Given the description of an element on the screen output the (x, y) to click on. 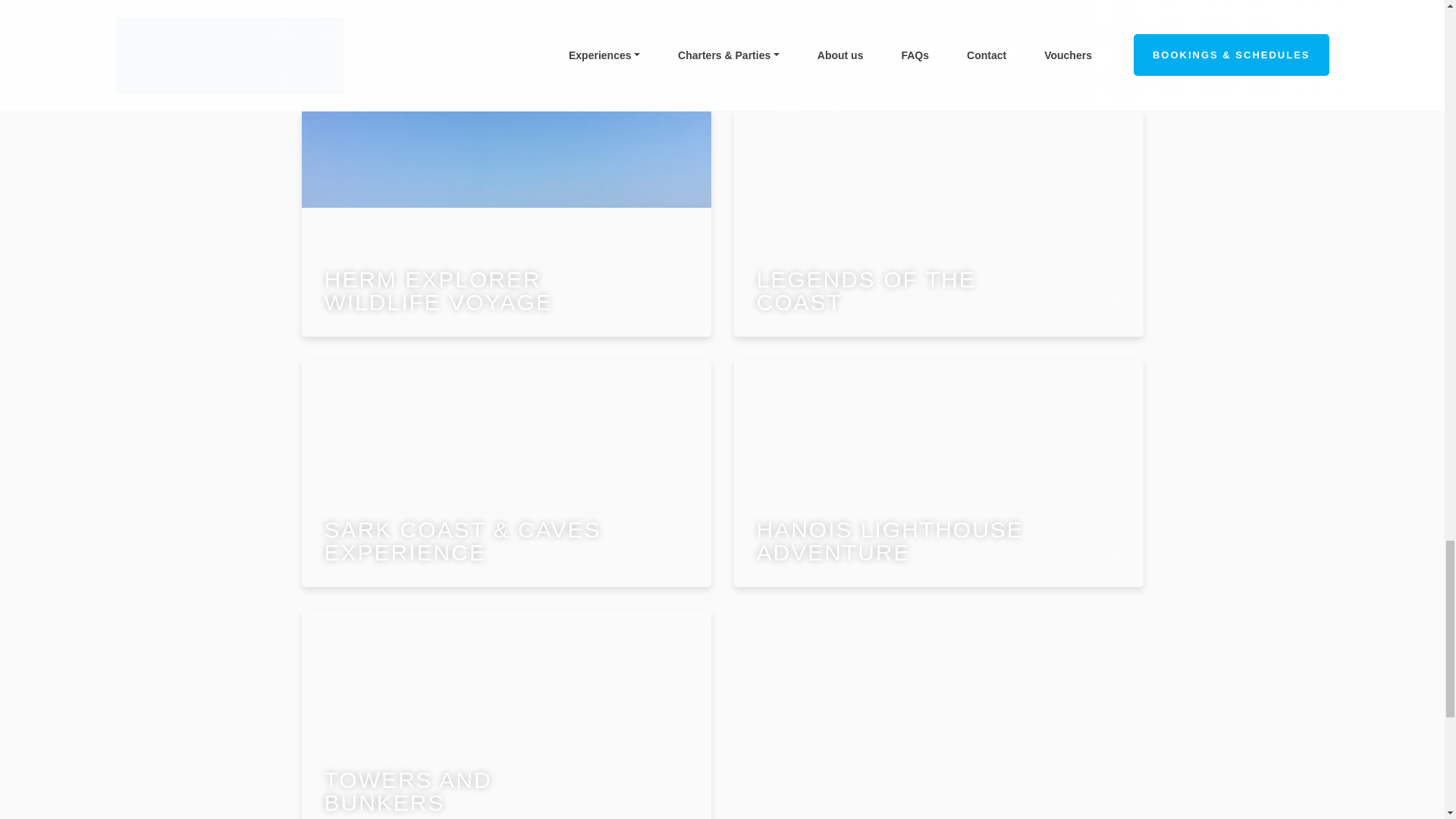
HERM EXPLORER WILDLIFE VOYAGE (506, 222)
TOWERS AND BUNKERS (506, 714)
LEGENDS OF THE COAST (937, 222)
HANOIS LIGHTHOUSE ADVENTURE (937, 473)
